Given the description of an element on the screen output the (x, y) to click on. 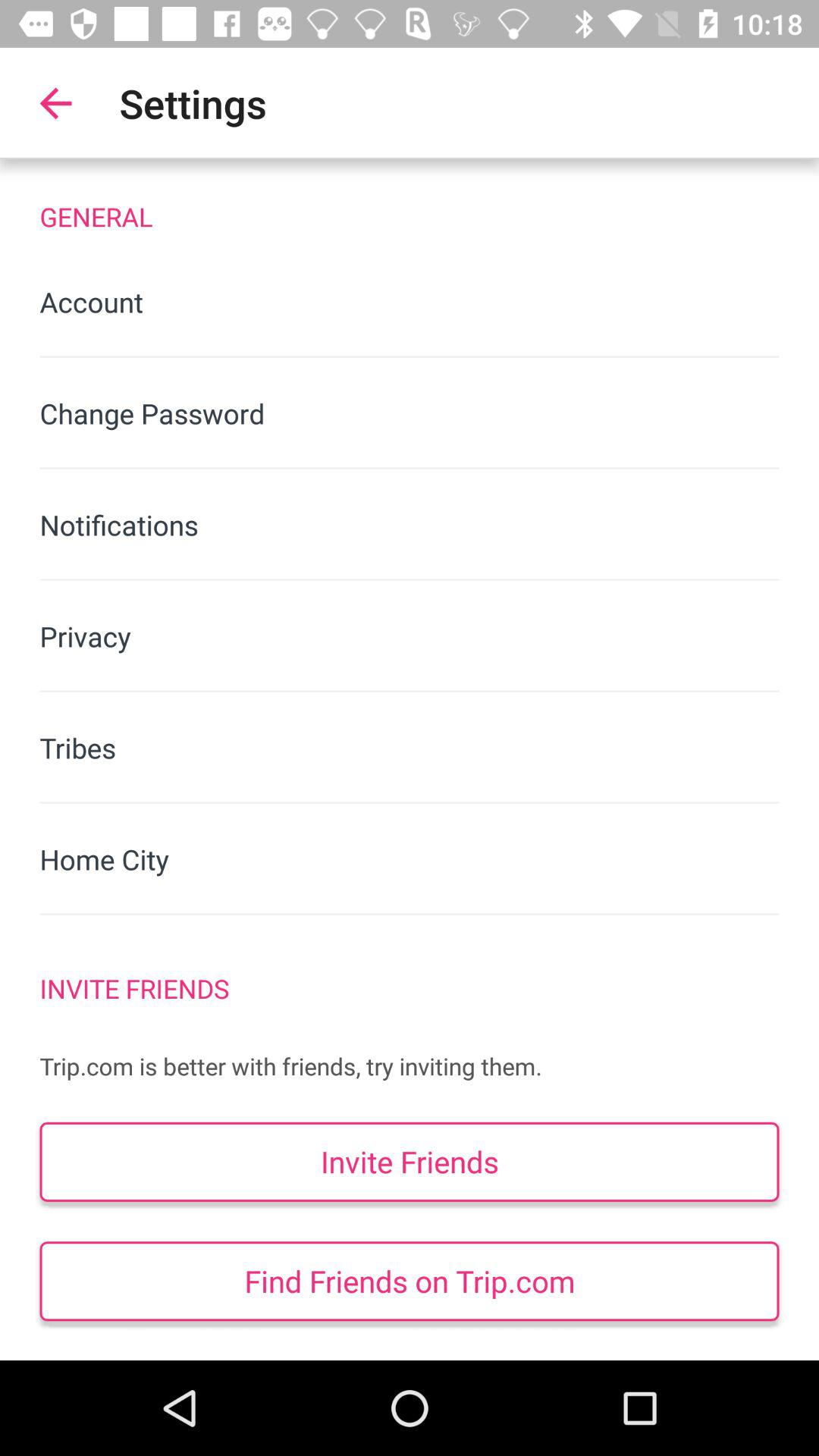
jump to the account icon (409, 301)
